Given the description of an element on the screen output the (x, y) to click on. 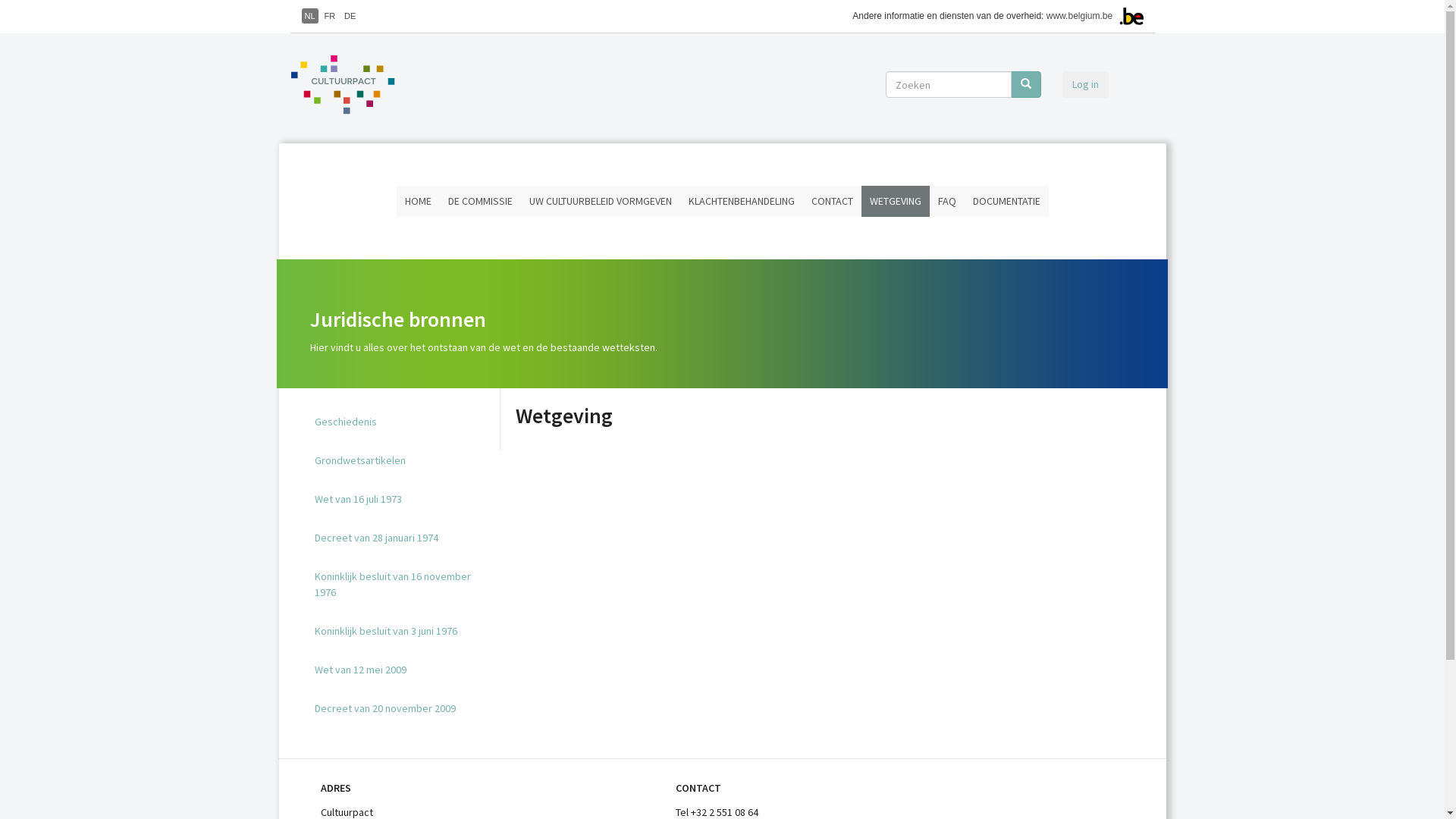
HOME Element type: text (417, 200)
Enter the terms you wish to search for. Element type: hover (948, 84)
Log in Element type: text (1084, 84)
Grondwetsartikelen Element type: text (401, 460)
WETGEVING Element type: text (895, 200)
Wet van 16 juli 1973 Element type: text (401, 499)
Decreet van 20 november 2009 Element type: text (401, 708)
www.belgium.be Element type: text (1079, 15)
DE Element type: text (349, 15)
Log in Element type: text (1084, 83)
DE COMMISSIE Element type: text (479, 200)
FR Element type: text (329, 15)
Home Element type: hover (347, 84)
NL Element type: text (309, 15)
Wet van 12 mei 2009 Element type: text (401, 669)
CONTACT Element type: text (831, 200)
DOCUMENTATIE Element type: text (1006, 200)
UW CULTUURBELEID VORMGEVEN Element type: text (599, 200)
KLACHTENBEHANDELING Element type: text (740, 200)
Decreet van 28 januari 1974 Element type: text (401, 537)
Koninklijk besluit van 16 november 1976 Element type: text (401, 584)
FAQ Element type: text (946, 200)
Koninklijk besluit van 3 juni 1976 Element type: text (401, 630)
Skip to main content Element type: text (0, 0)
Zoeken Element type: text (886, 98)
Geschiedenis Element type: text (401, 421)
